Given the description of an element on the screen output the (x, y) to click on. 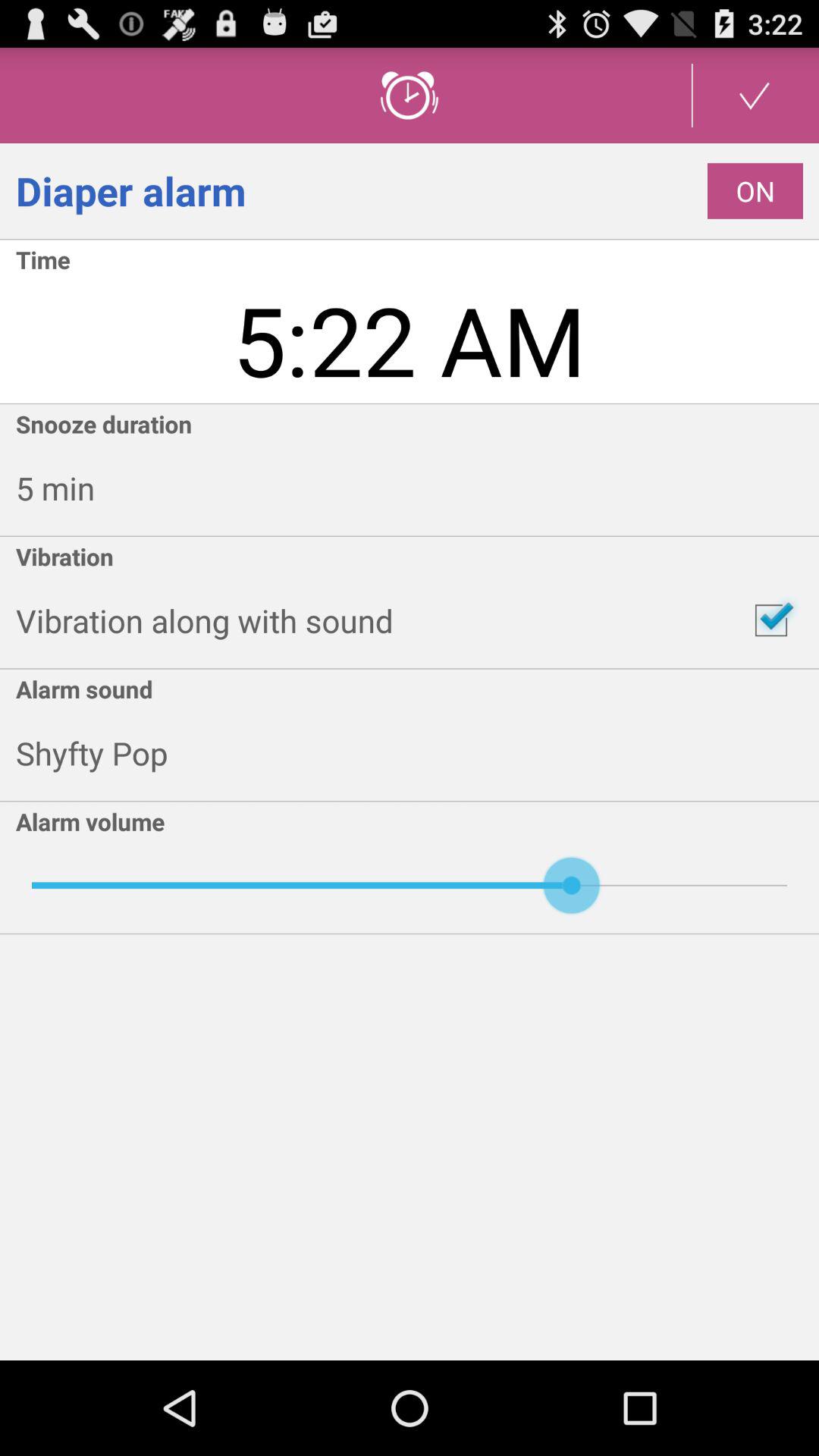
select option vibration along with sound (771, 620)
